Given the description of an element on the screen output the (x, y) to click on. 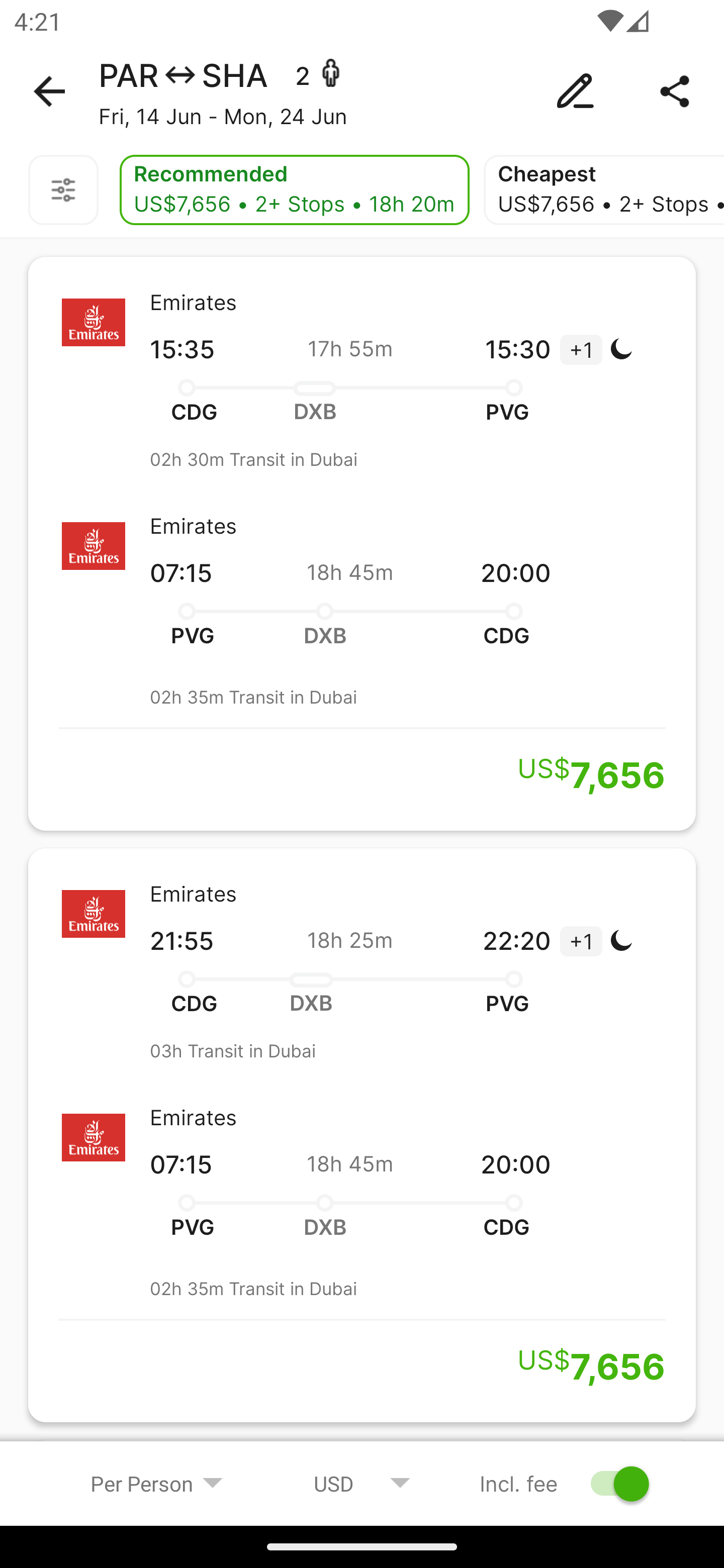
PAR SHA   2 - Fri, 14 Jun - Mon, 24 Jun (361, 91)
Recommended  US$7,656 • 2+ Stops • 18h 20m (294, 190)
Cheapest US$7,656 • 2+ Stops • 18h 35m (603, 190)
Per Person (156, 1482)
USD (361, 1482)
